Given the description of an element on the screen output the (x, y) to click on. 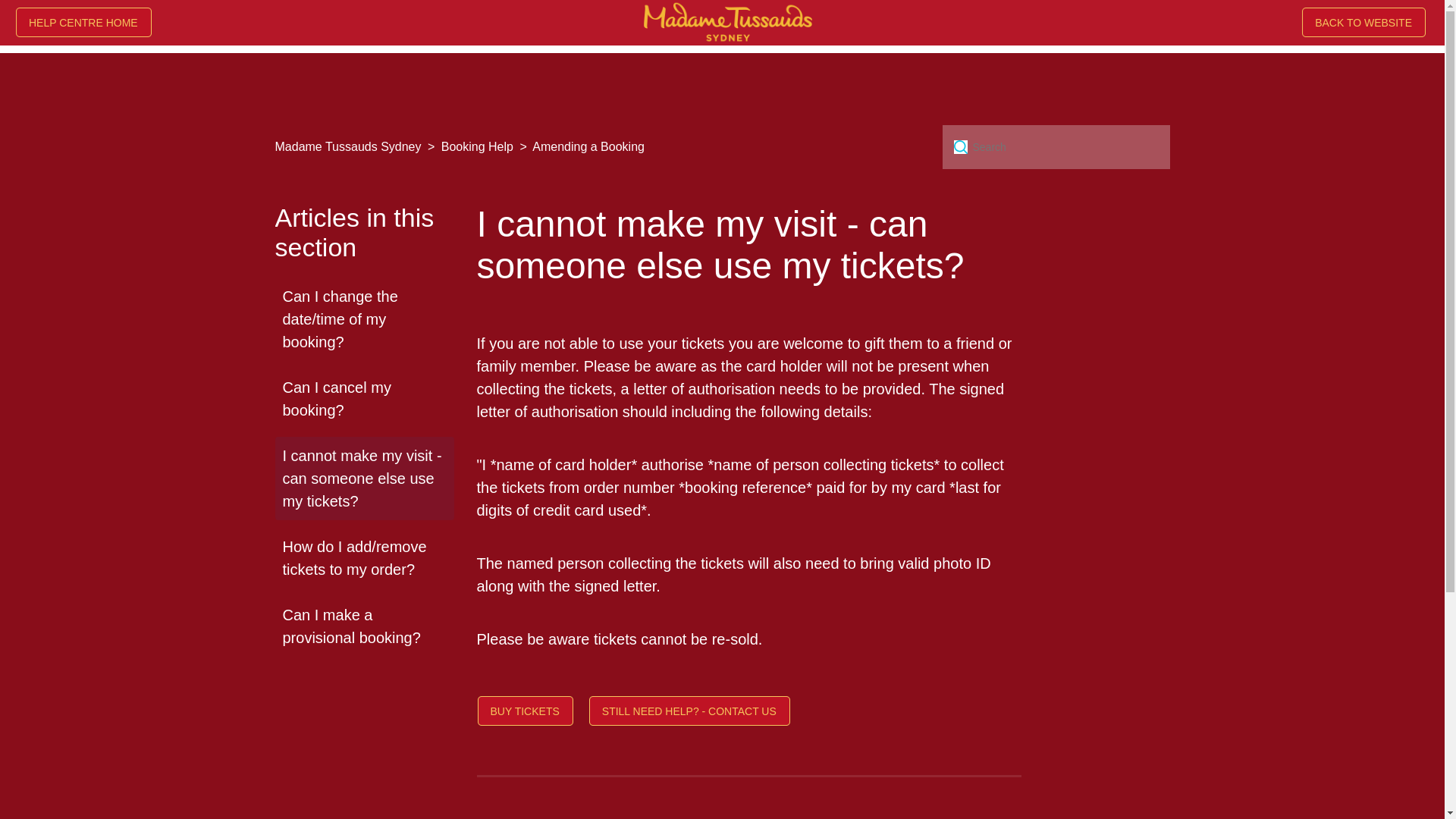
Madame Tussauds Sydney (347, 146)
BUY TICKETS (526, 712)
Madame Tussauds Sydney (349, 146)
BACK TO WEBSITE (1365, 23)
Booking Help (470, 146)
I cannot make my visit - can someone else use my tickets? (749, 244)
Booking Help (477, 146)
HELP CENTRE HOME (84, 23)
Can I make a provisional booking? (363, 626)
Home (84, 23)
Amending a Booking (588, 146)
Can I cancel my booking? (363, 398)
STILL NEED HELP? - CONTACT US (690, 712)
I cannot make my visit - can someone else use my tickets? (363, 478)
Amending a Booking (580, 146)
